Given the description of an element on the screen output the (x, y) to click on. 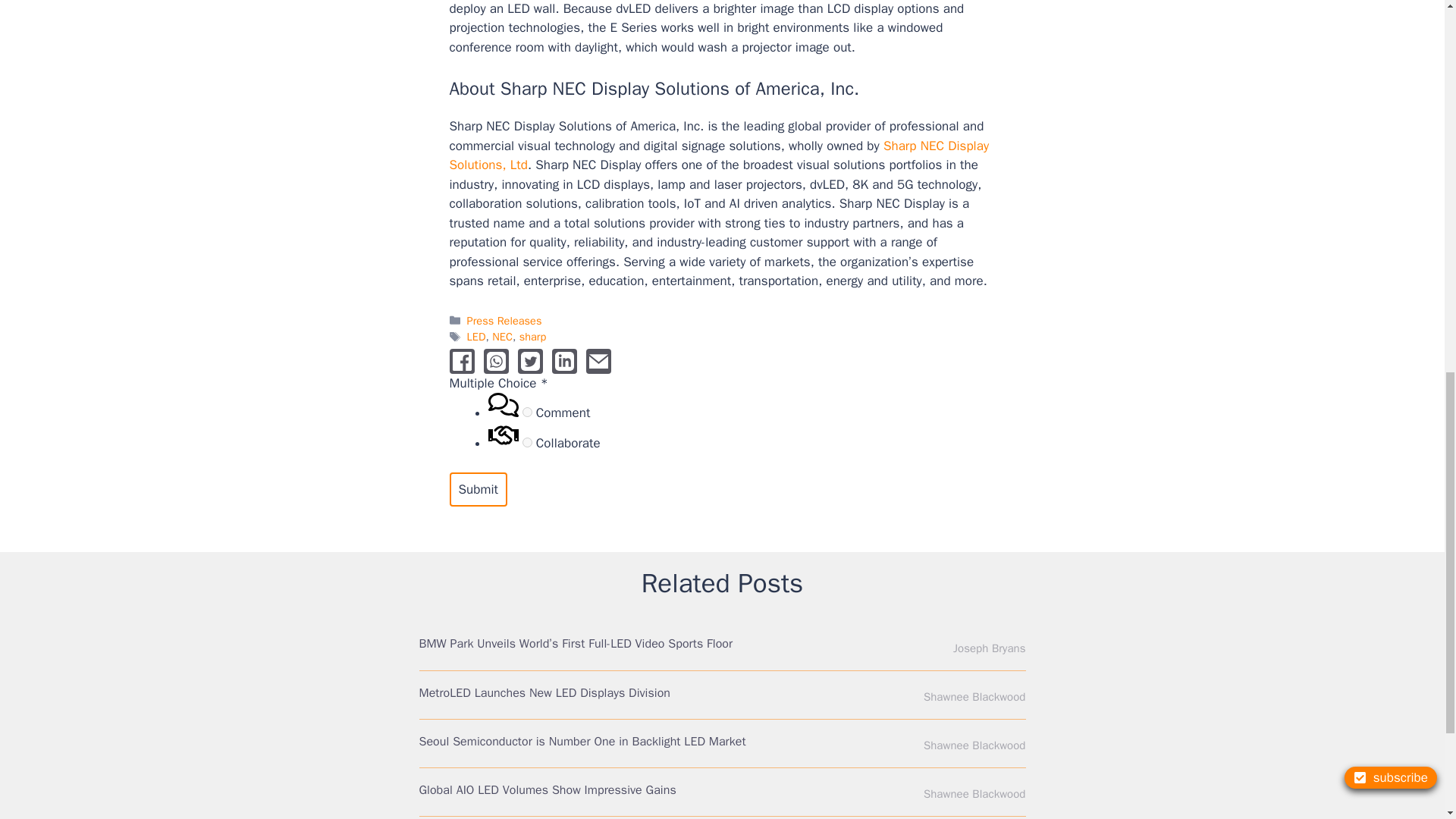
MetroLED Launches New LED Displays Division (544, 693)
Sharp NEC Display Solutions, Ltd (718, 155)
Press Releases (504, 320)
sharp (533, 336)
NEC (502, 336)
Global AIO LED Volumes Show Impressive Gains (547, 789)
LED (476, 336)
Seoul Semiconductor is Number One in Backlight LED Market (582, 741)
Submit (477, 489)
Collaborate (527, 442)
